Given the description of an element on the screen output the (x, y) to click on. 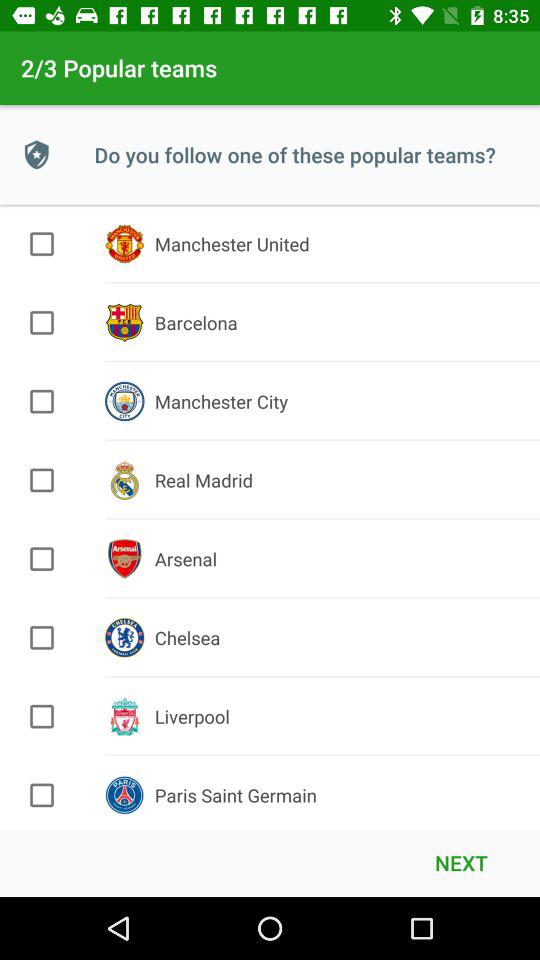
select button (42, 559)
